Given the description of an element on the screen output the (x, y) to click on. 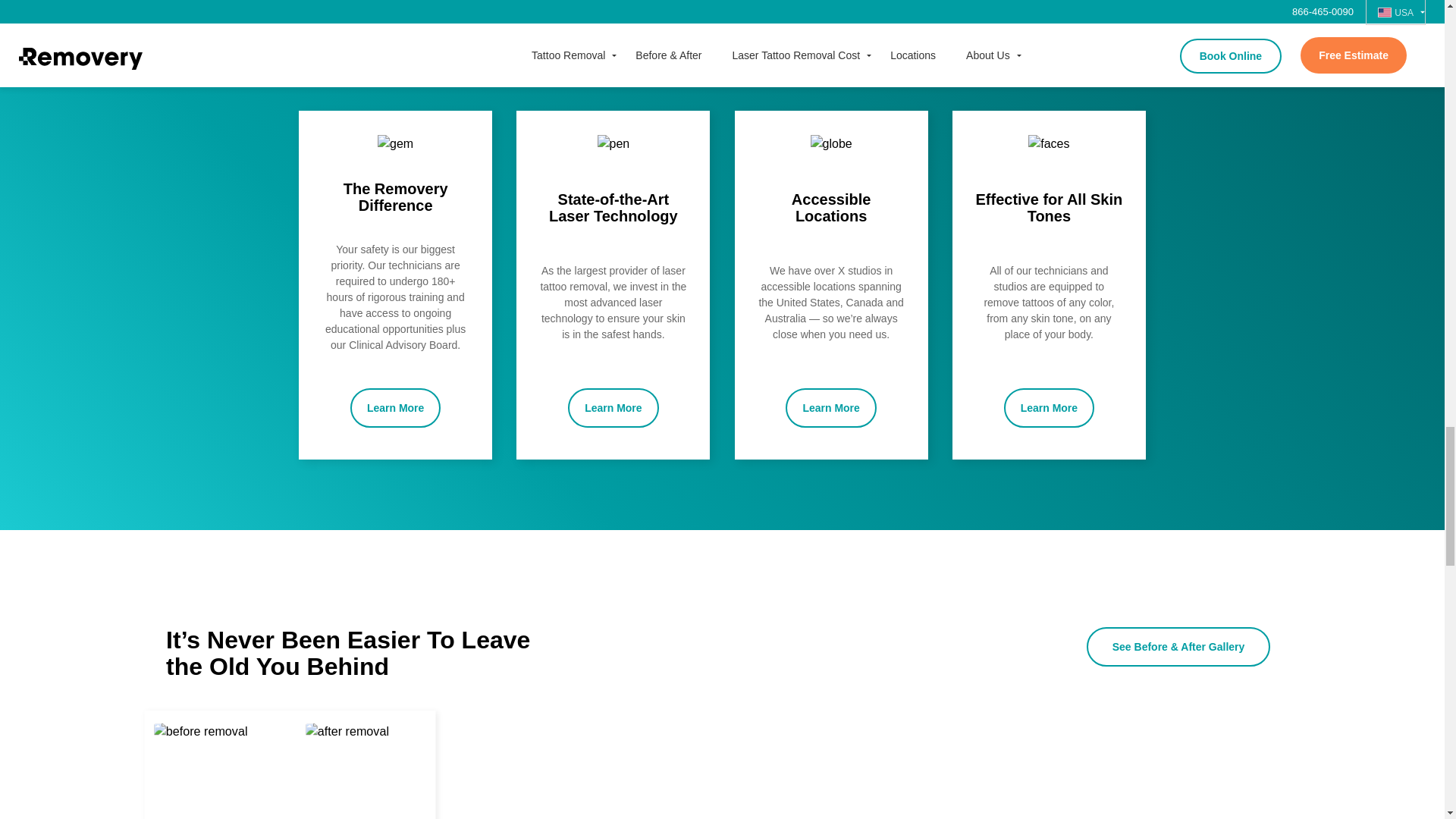
Learn More (831, 407)
Learn More (1049, 407)
Learn More (612, 407)
Learn More (395, 407)
